Given the description of an element on the screen output the (x, y) to click on. 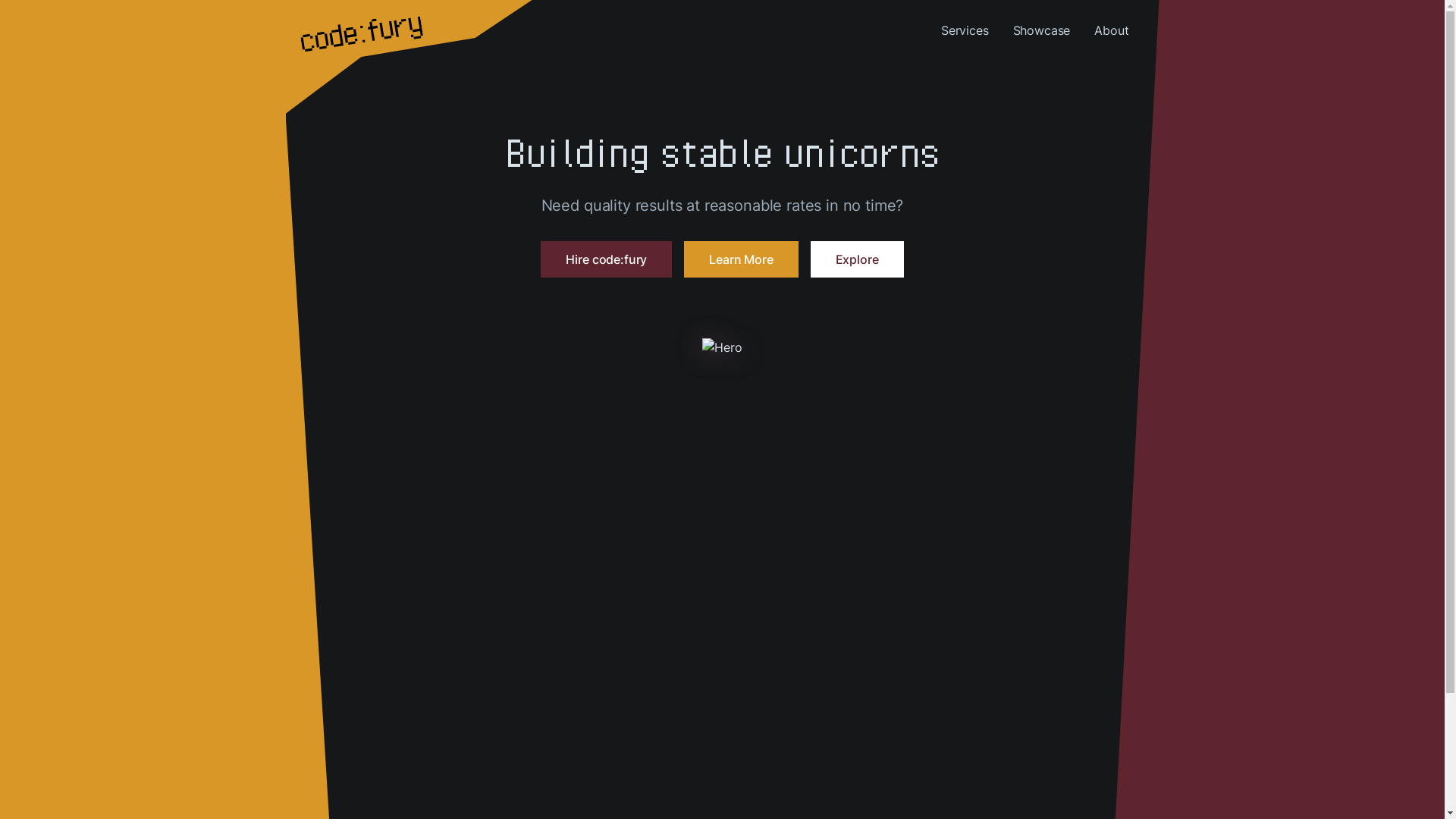
Services Element type: text (964, 30)
About Element type: text (1111, 30)
Showcase Element type: text (1041, 30)
Explore Element type: text (856, 259)
Learn More Element type: text (740, 259)
Hire code:fury Element type: text (605, 259)
